Given the description of an element on the screen output the (x, y) to click on. 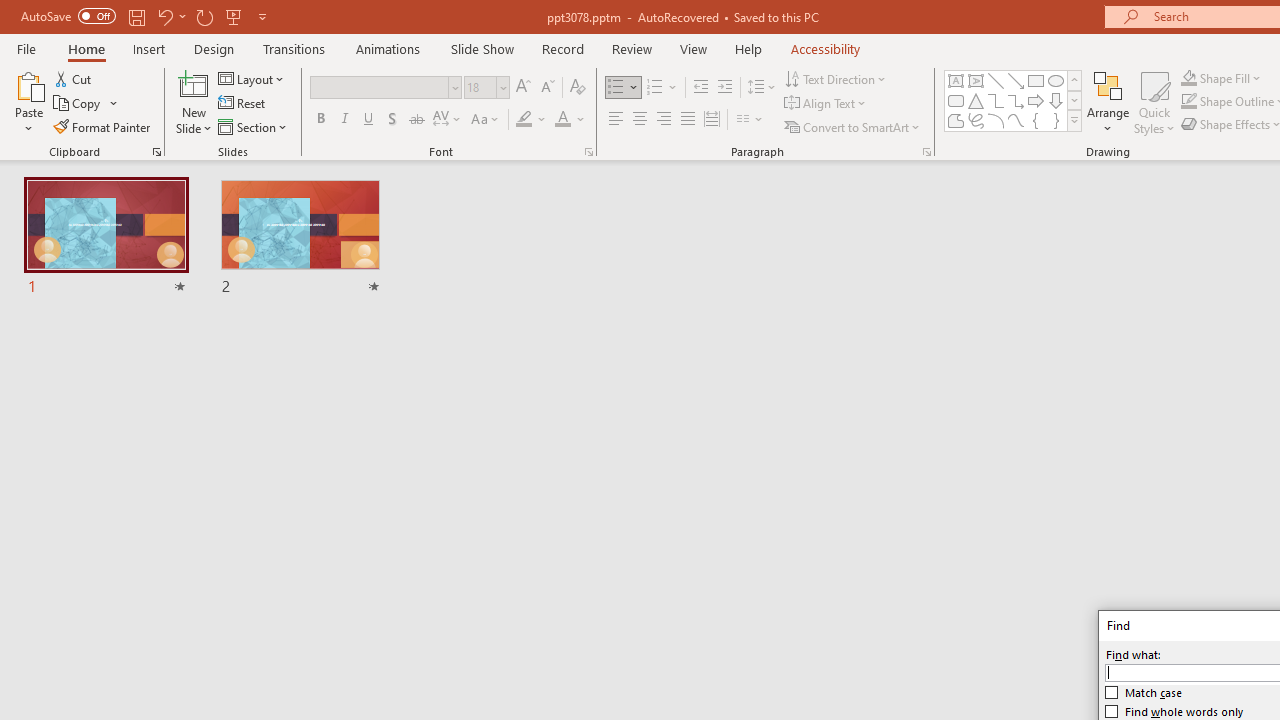
Match case (1144, 692)
